Given the description of an element on the screen output the (x, y) to click on. 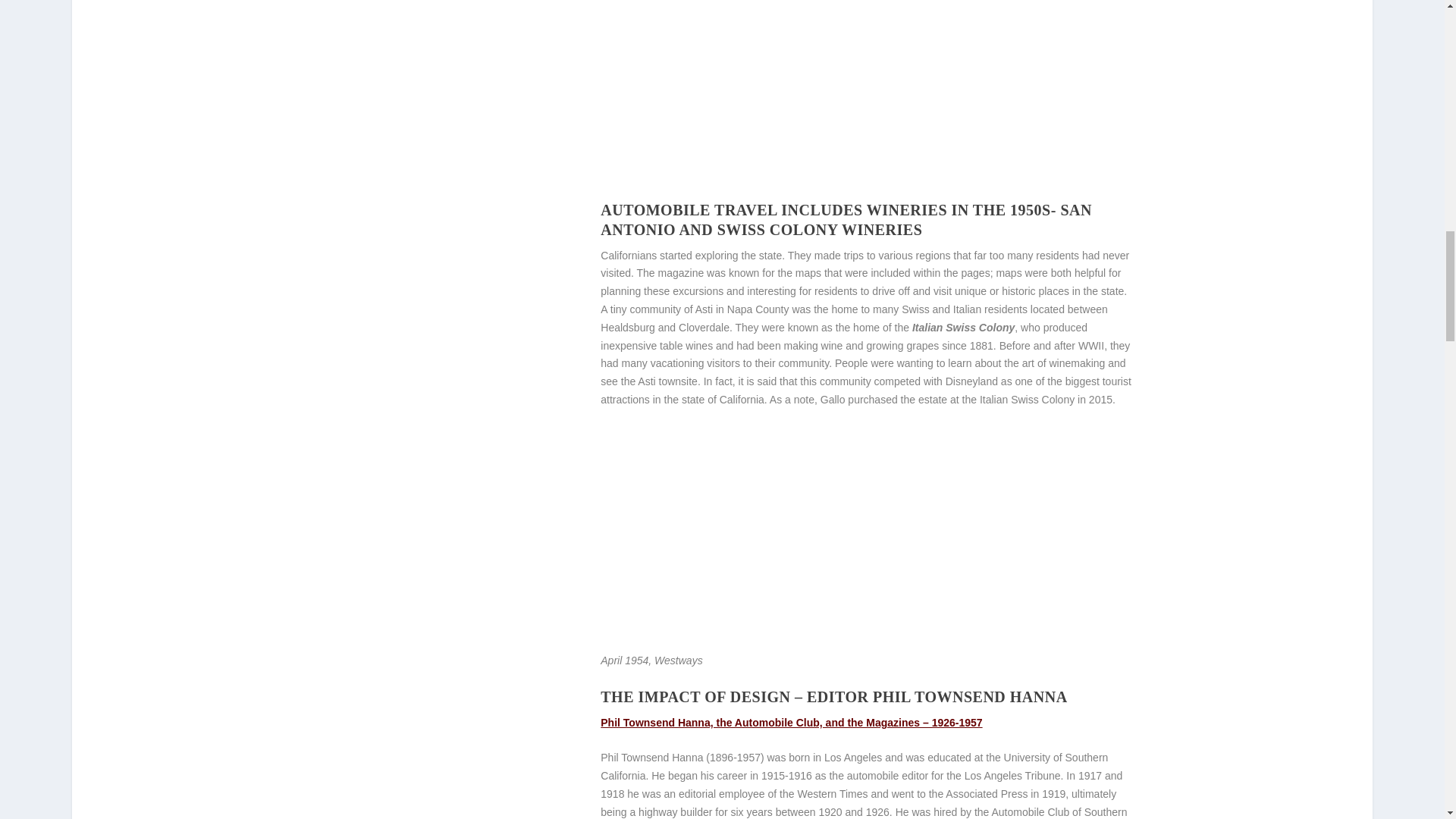
Touring-Topics (391, 467)
Westways (378, 634)
Westways Magazine Cover (433, 41)
